Given the description of an element on the screen output the (x, y) to click on. 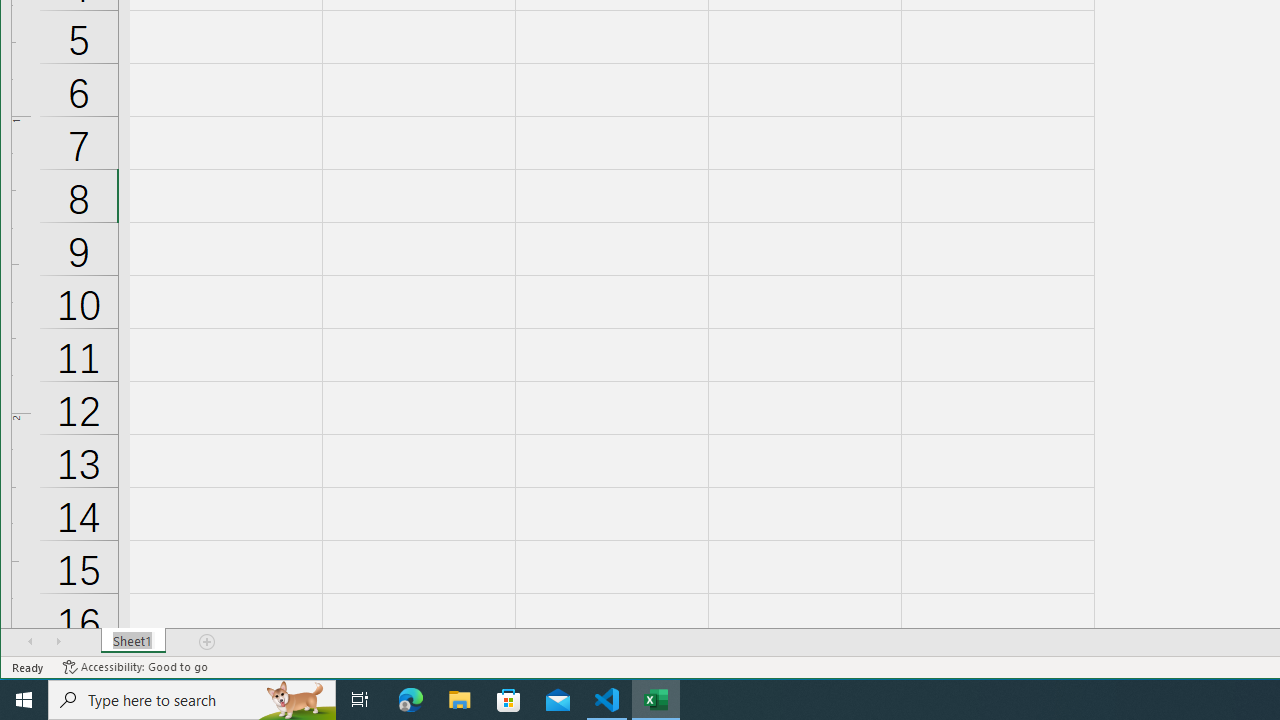
Visual Studio Code - 1 running window (607, 699)
